Given the description of an element on the screen output the (x, y) to click on. 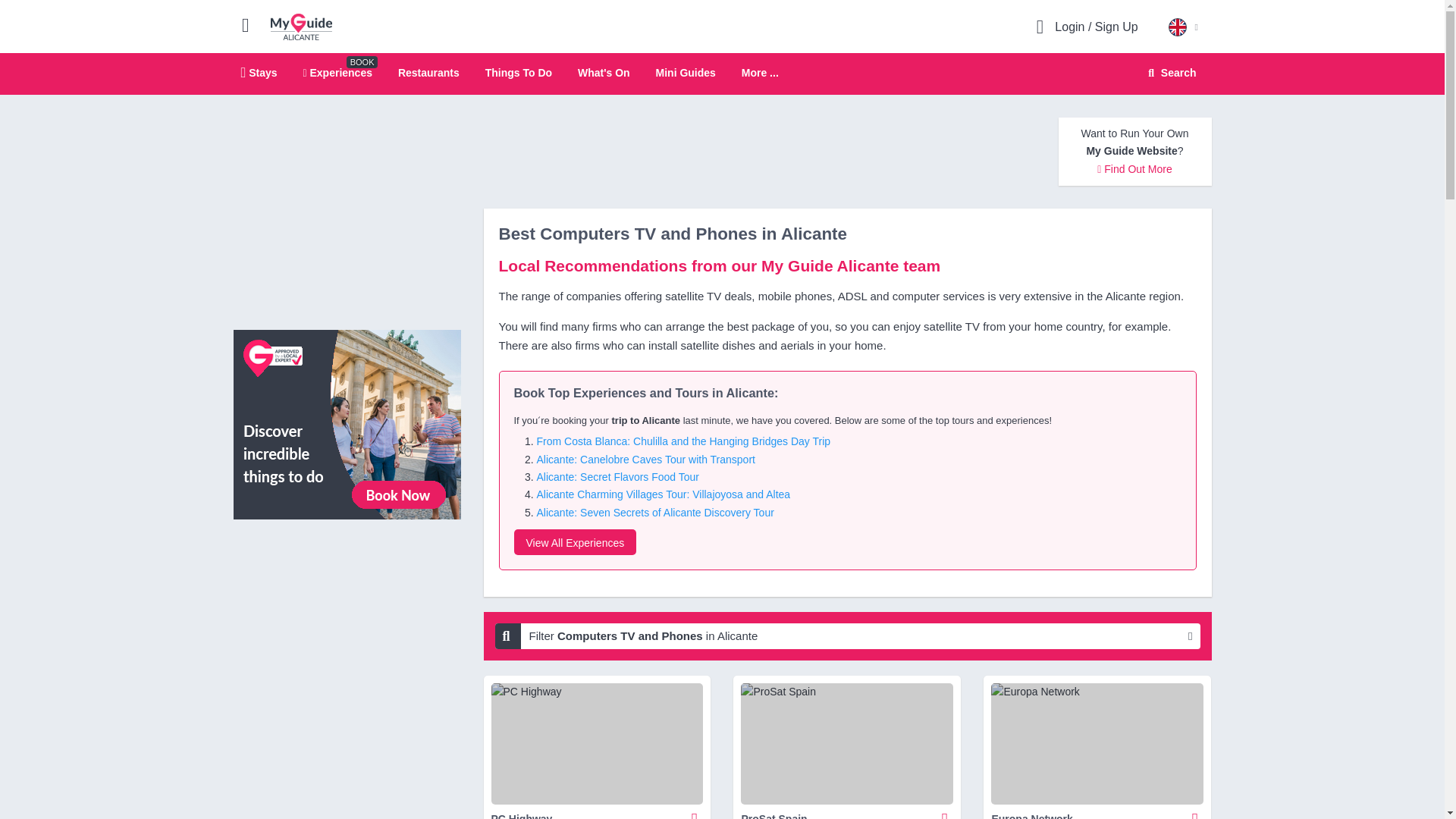
My Guide Alicante (300, 25)
View All Experiences (575, 542)
Toggle Menu (251, 24)
Things To Do (517, 72)
What's On (604, 72)
Restaurants (428, 72)
Add to My Guide (694, 811)
Experiences (337, 72)
View All Experiences (346, 423)
Add to My Guide (1195, 811)
More ... (759, 72)
Add to My Guide (944, 811)
Search (1169, 72)
Mini Guides (686, 72)
